Given the description of an element on the screen output the (x, y) to click on. 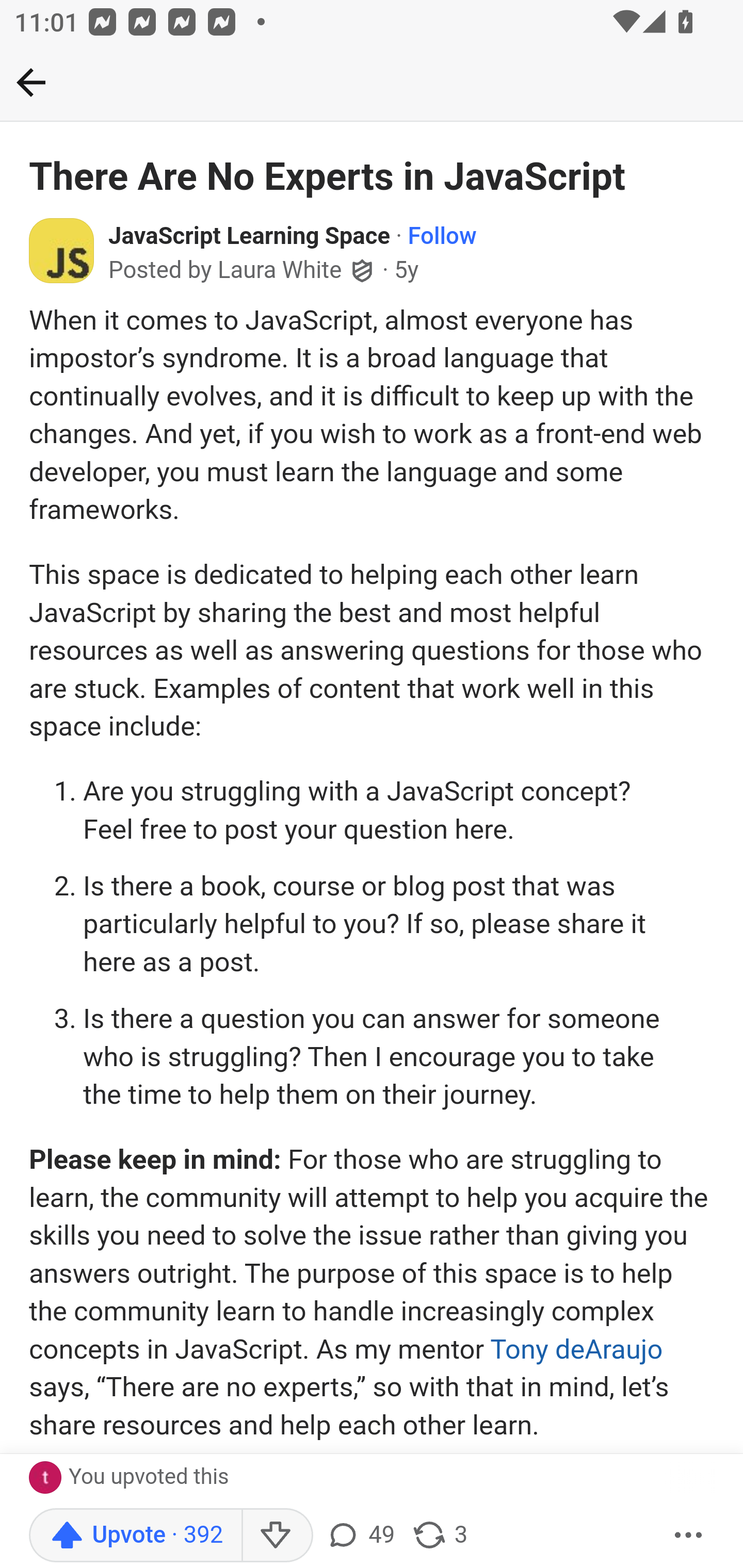
Back (371, 82)
Back (30, 82)
Icon for JavaScript Learning Space (61, 249)
JavaScript Learning Space (249, 237)
Follow (441, 237)
Laura White (279, 271)
5y 5 y (406, 270)
Tony deAraujo (576, 1348)
View 392 upvotes (246, 1473)
Profile photo for Test Appium (48, 1478)
Upvote (135, 1535)
Downvote (277, 1535)
49 comments (360, 1535)
3 shares (439, 1535)
More (688, 1535)
